Given the description of an element on the screen output the (x, y) to click on. 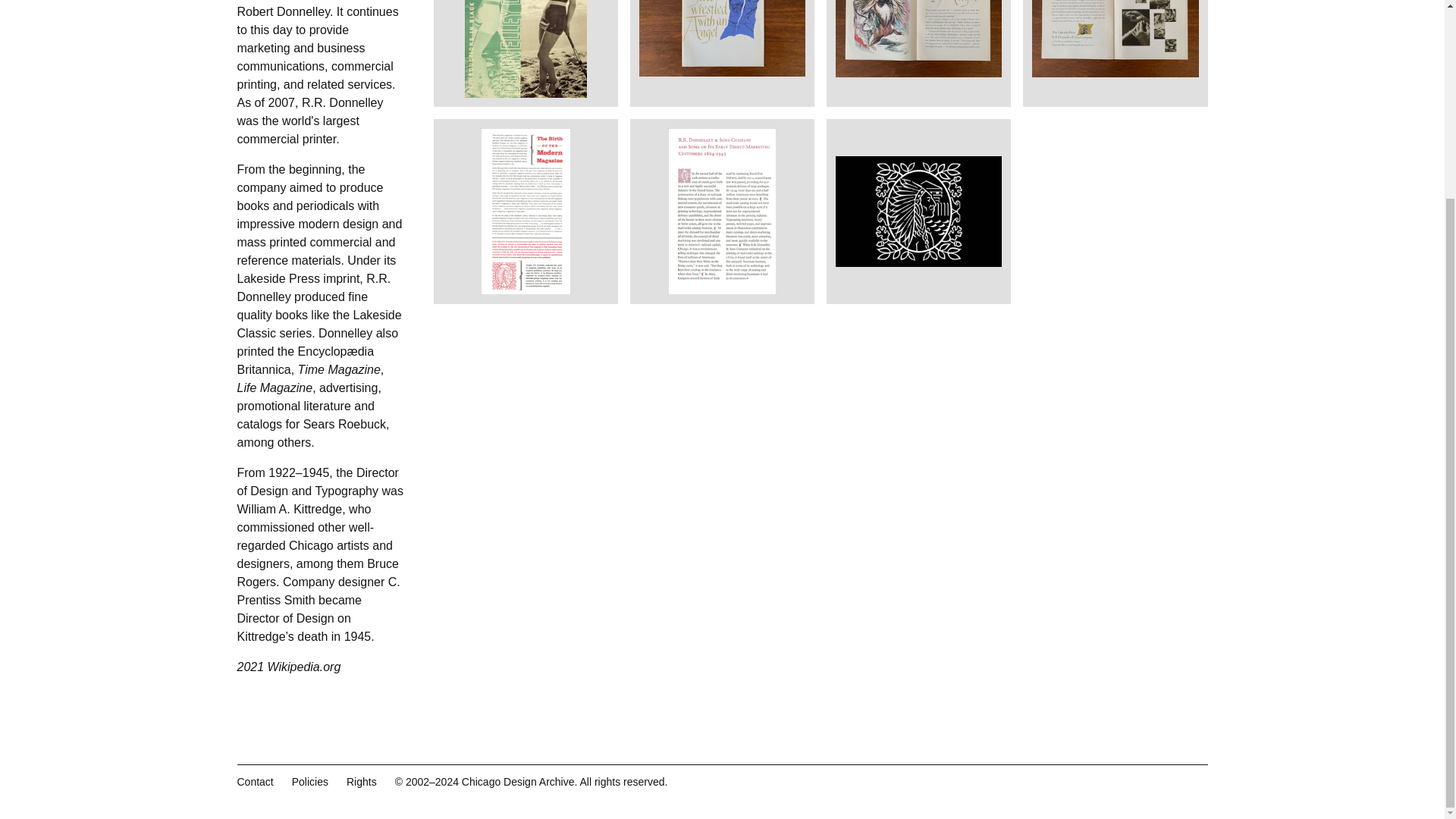
3C-24 (918, 210)
Contact (254, 781)
1B-4 (525, 48)
